Given the description of an element on the screen output the (x, y) to click on. 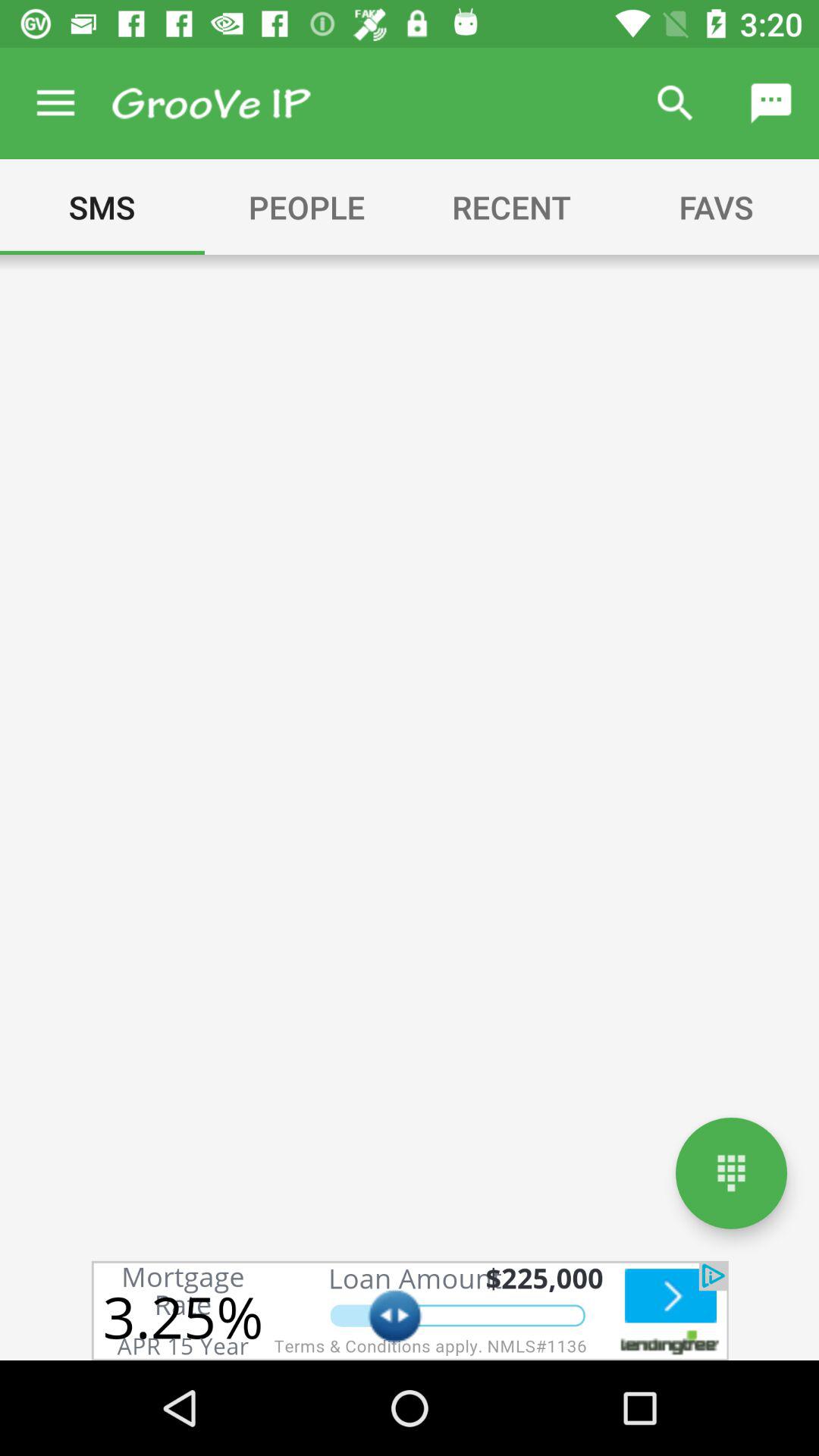
groove ip (210, 103)
